Given the description of an element on the screen output the (x, y) to click on. 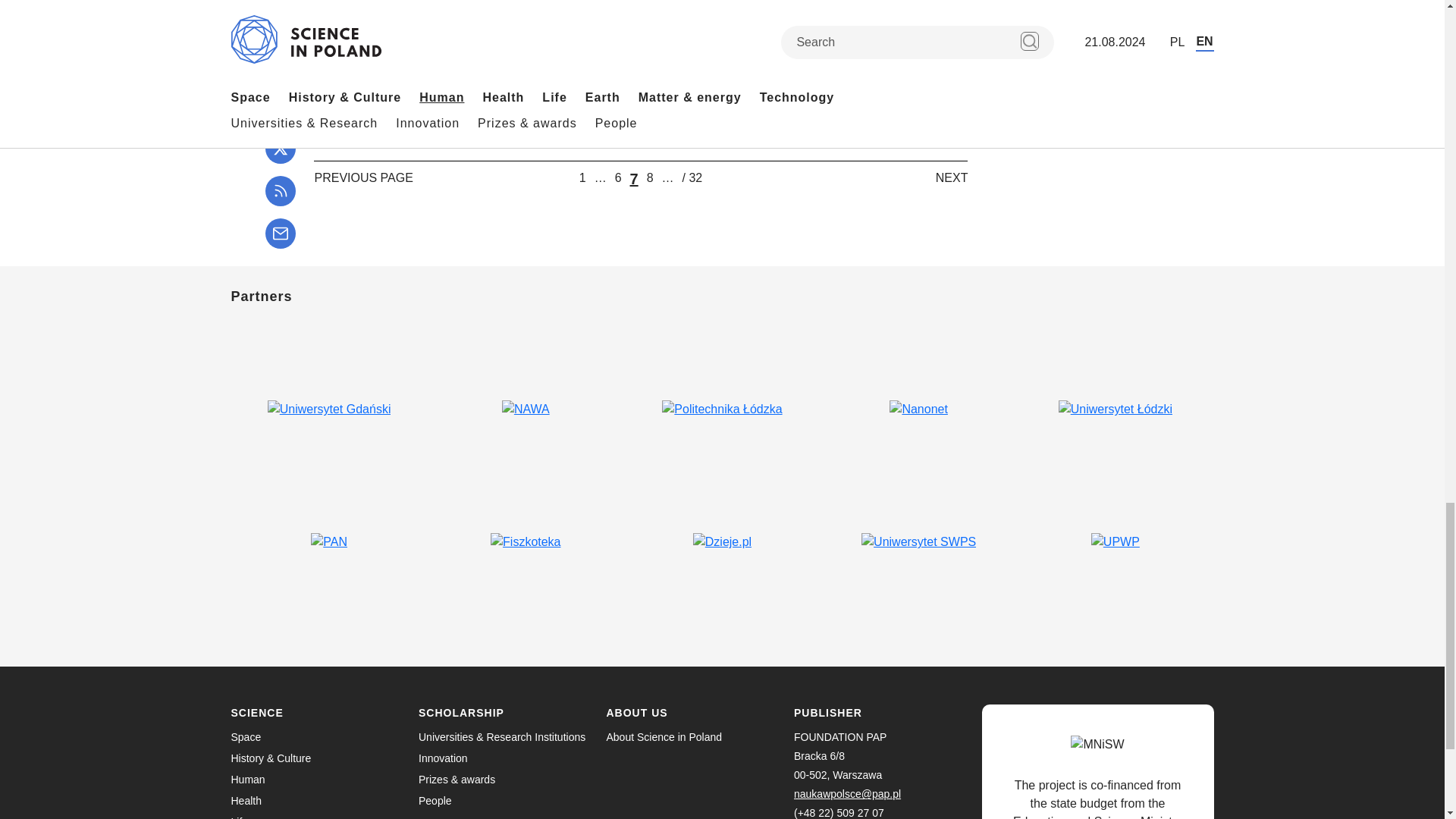
Go to next page (952, 177)
Go to previous page (363, 177)
Go to last page (692, 177)
